Given the description of an element on the screen output the (x, y) to click on. 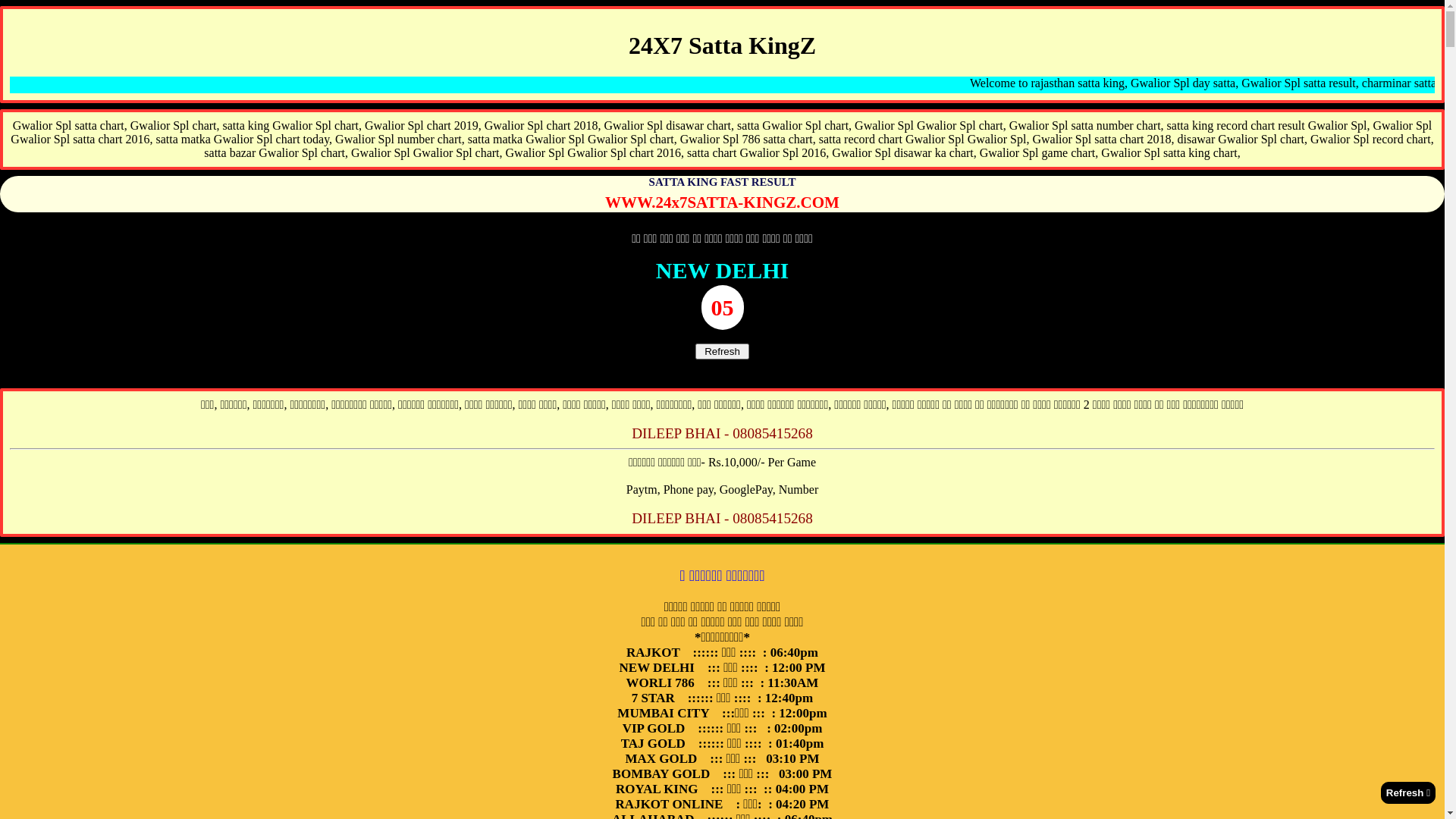
   Element type: text (1407, 792)
 Refresh  Element type: text (721, 351)
 Refresh  Element type: text (721, 350)
WWW.24x7SATTA-KINGZ.COM Element type: text (722, 202)
